Given the description of an element on the screen output the (x, y) to click on. 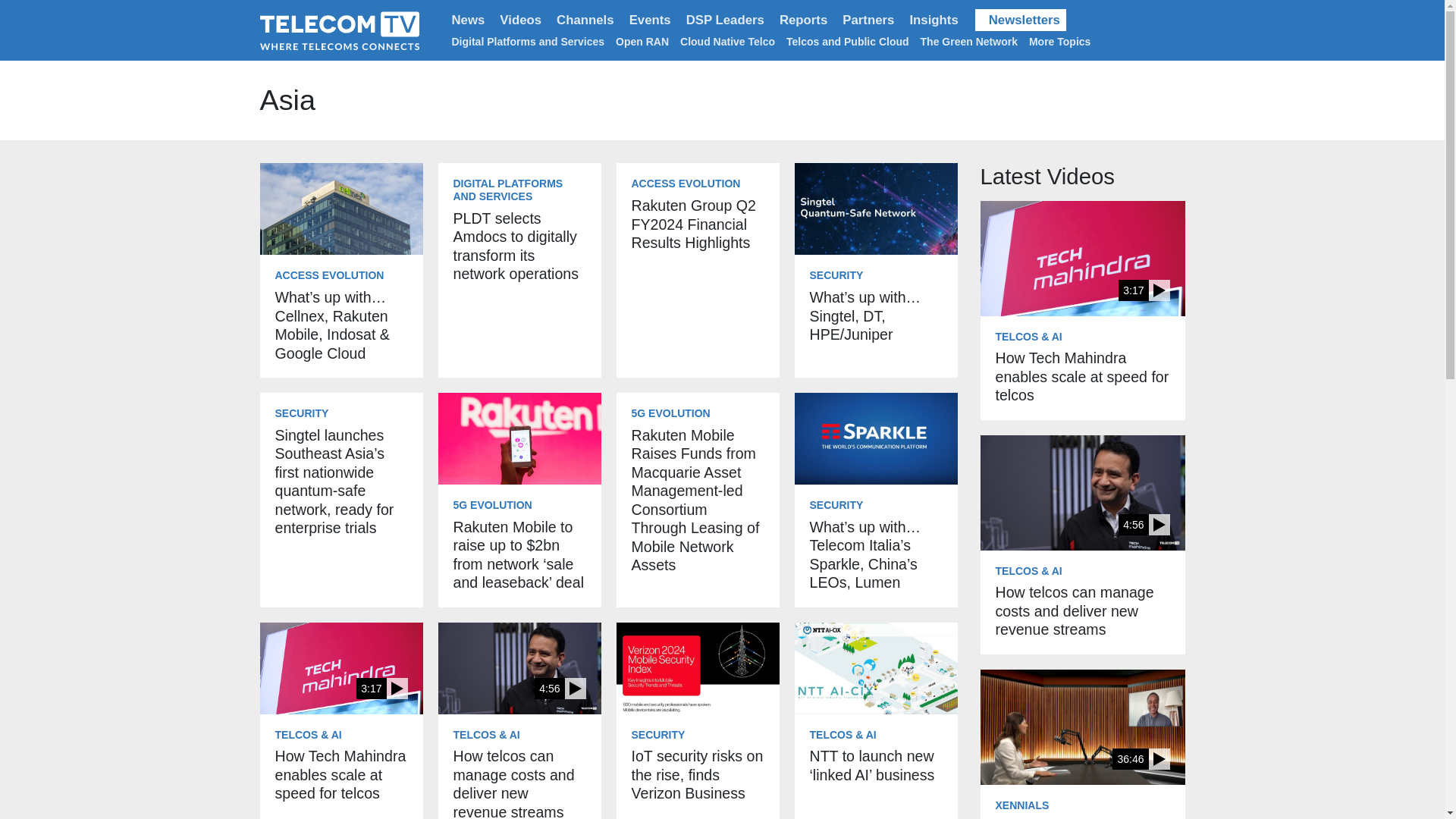
Newsletters (1020, 20)
Telcos and Public Cloud (847, 41)
DSP Leaders (724, 20)
Reports (802, 20)
Open RAN (641, 41)
Digital Platforms and Services (528, 41)
Channels (585, 20)
The Green Network (968, 41)
More Topics (1062, 41)
Events (650, 20)
